Given the description of an element on the screen output the (x, y) to click on. 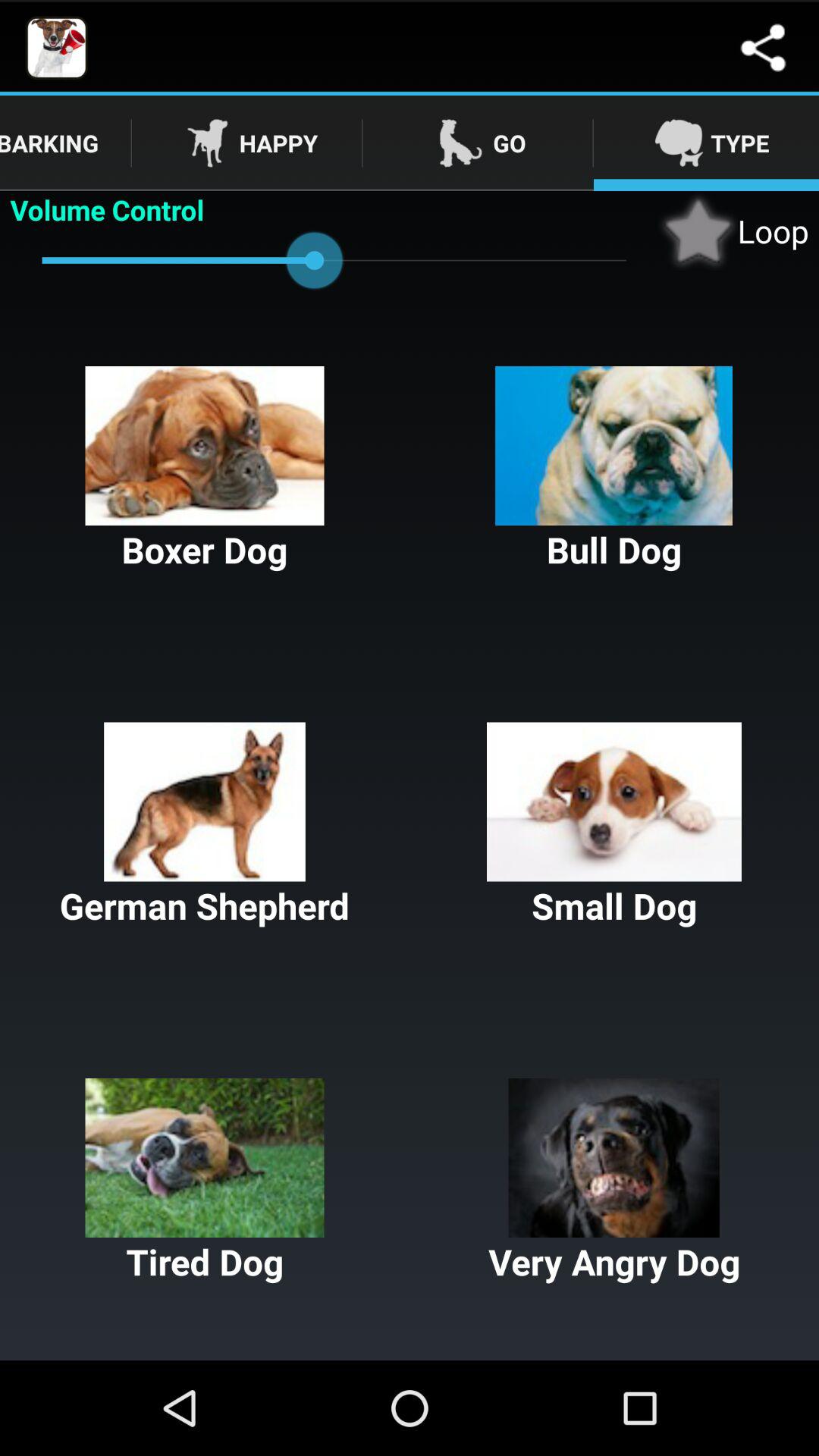
swipe to german shepherd icon (204, 825)
